Given the description of an element on the screen output the (x, y) to click on. 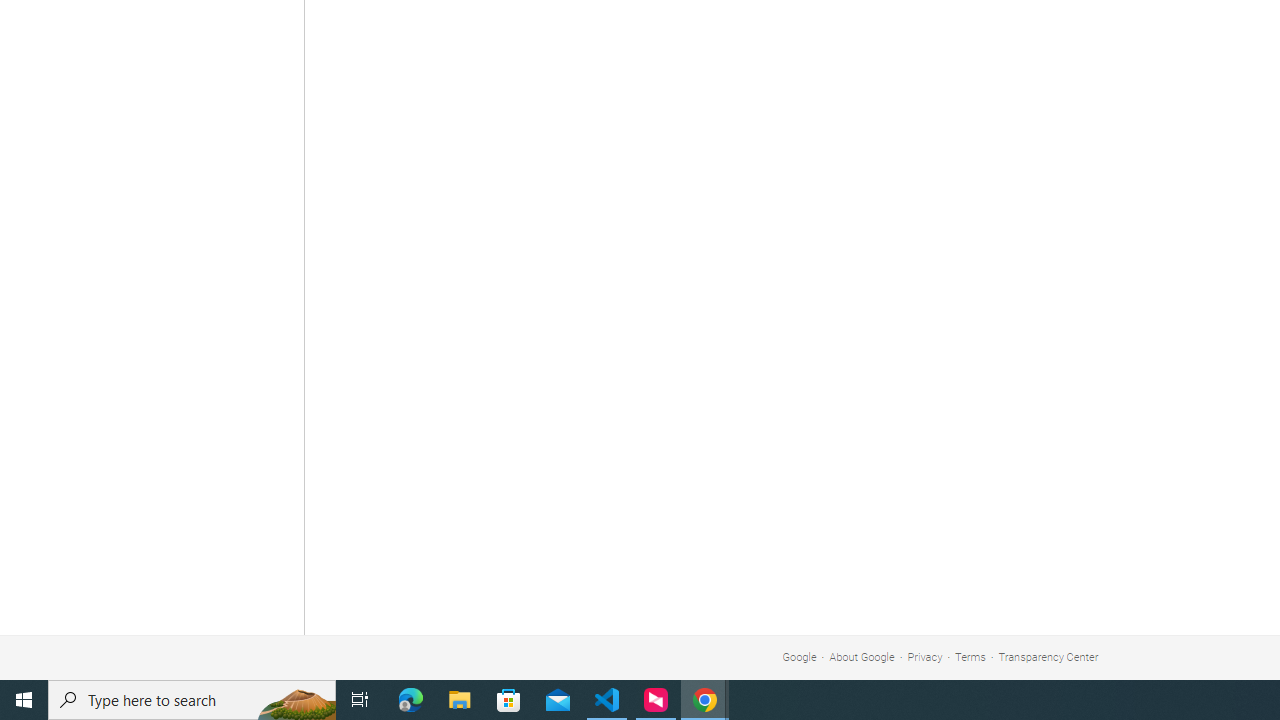
Transparency Center (1048, 656)
Google (799, 656)
About Google (861, 656)
Privacy (925, 656)
